Given the description of an element on the screen output the (x, y) to click on. 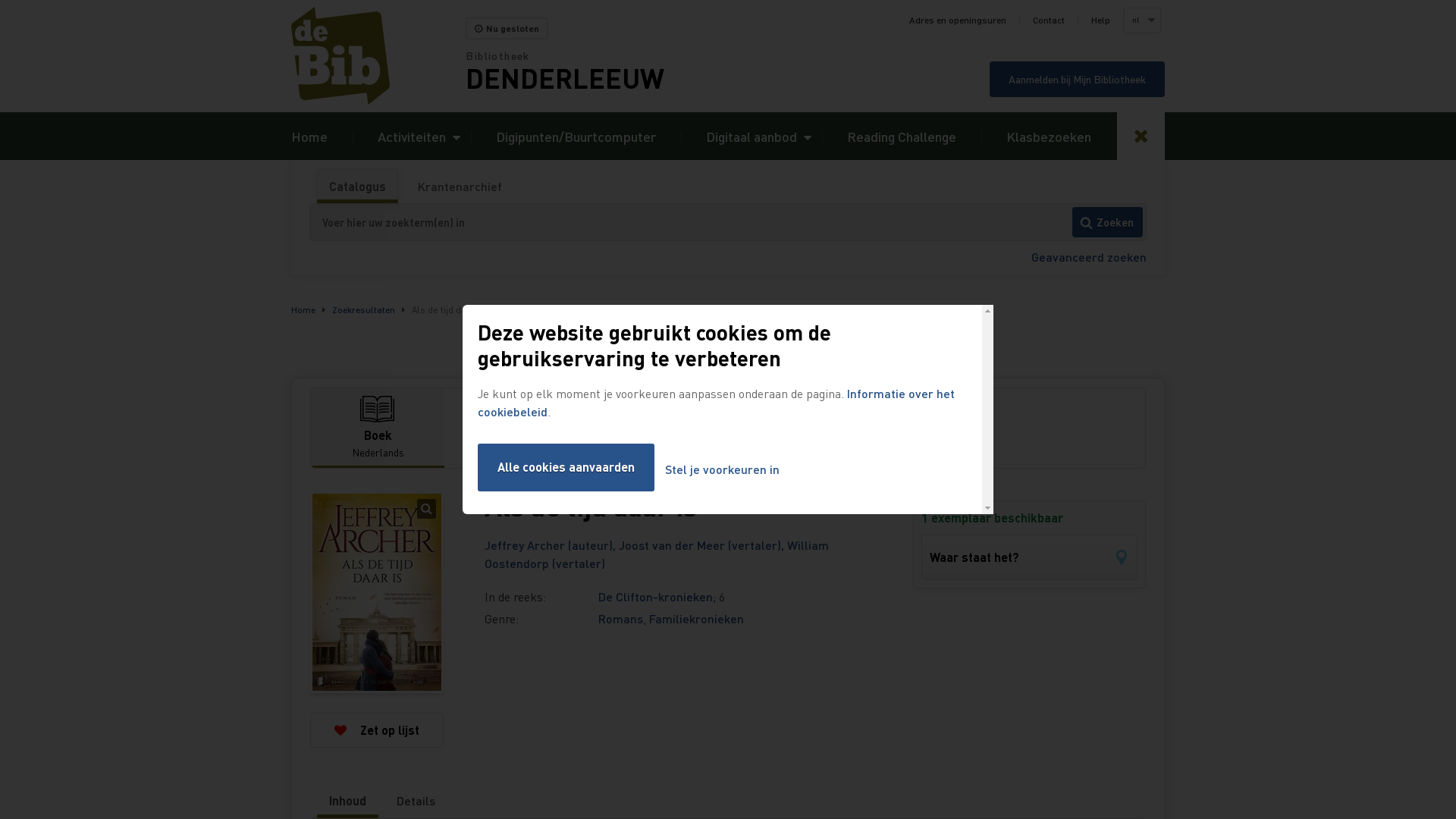
Contact Element type: text (1048, 20)
Nu gesloten Element type: text (506, 28)
Geavanceerd zoeken Element type: text (1088, 256)
Toggle search Element type: hover (1140, 136)
Details Element type: text (415, 800)
Waar staat het? Element type: text (1029, 557)
nl Element type: text (1140, 20)
Inhoud Element type: text (347, 800)
Digipunten/Buurtcomputer Element type: text (575, 136)
Klasbezoeken Element type: text (1048, 136)
Krantenarchief Element type: text (459, 186)
Stel je voorkeuren in Element type: text (722, 469)
Zet op lijst Element type: text (376, 729)
Jeffrey Archer (auteur), Element type: text (551, 544)
Home Element type: hover (378, 55)
Adres en openingsuren Element type: text (957, 20)
Home Element type: text (309, 136)
William Oostendorp (vertaler) Element type: text (656, 553)
Familiekronieken Element type: text (696, 618)
Catalogus Element type: text (357, 186)
Alle cookies aanvaarden Element type: text (565, 466)
De Clifton-kronieken Element type: text (655, 596)
Zoekresultaten Element type: text (363, 309)
Help Element type: text (1100, 20)
Home Element type: text (303, 309)
Zoeken Element type: text (1107, 222)
Joost van der Meer (vertaler), Element type: text (702, 544)
Aanmelden bij Mijn Bibliotheek Element type: text (1076, 79)
Informatie over het cookiebeleid Element type: text (715, 402)
Reading Challenge Element type: text (901, 136)
Overslaan en naar zoeken gaan Element type: text (0, 0)
Romans Element type: text (620, 618)
